Given the description of an element on the screen output the (x, y) to click on. 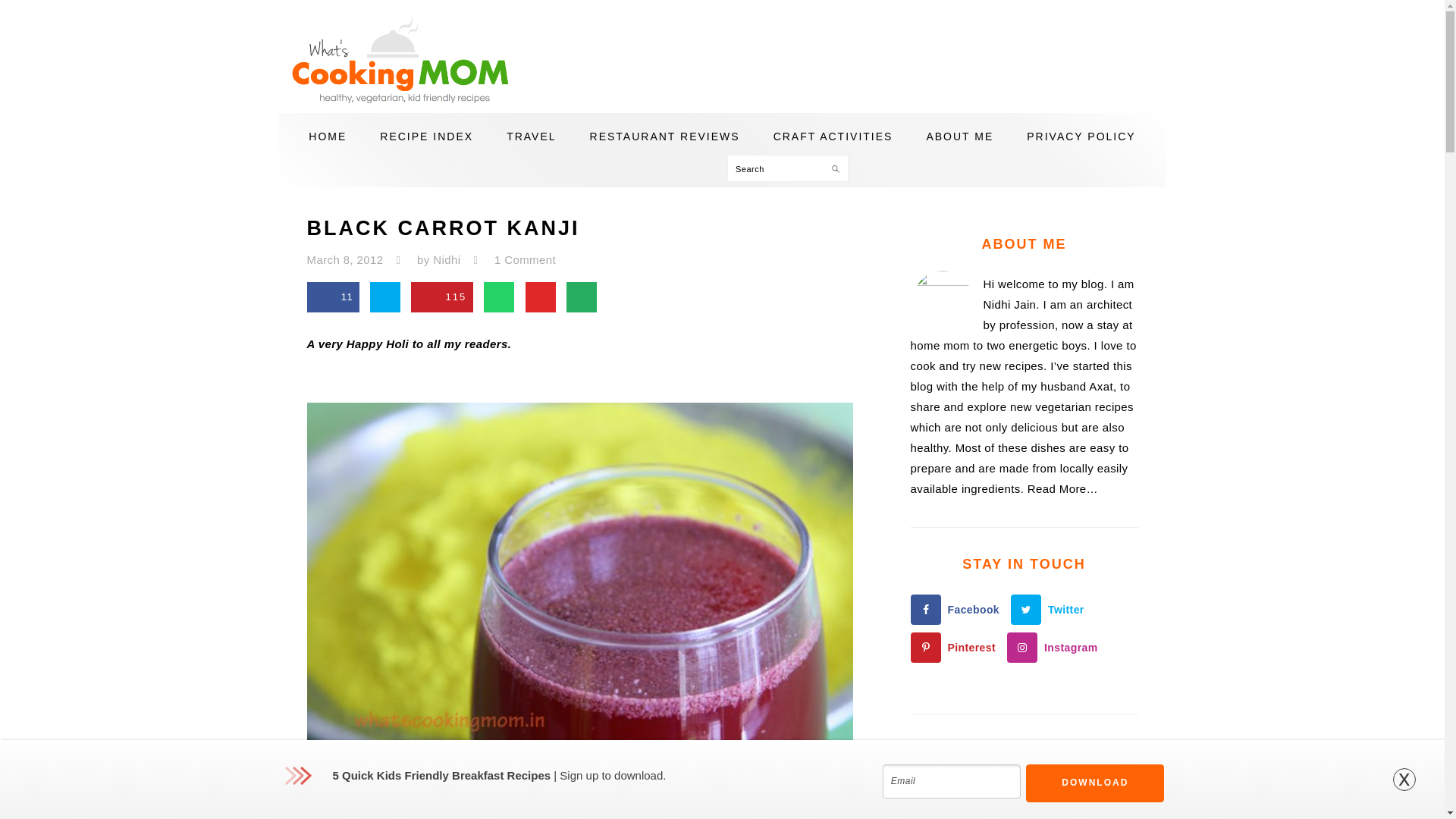
115 (440, 296)
TRAVEL (531, 135)
Share on Twitter (384, 296)
Nidhi (446, 259)
HOME (327, 135)
Share on Facebook (331, 296)
Save to Pinterest (440, 296)
RECIPE INDEX (426, 135)
CRAFT ACTIVITIES (832, 135)
1 Comment (525, 259)
Share on WhatsApp (498, 296)
Share on Flipboard (540, 296)
PRIVACY POLICY (1080, 135)
